Given the description of an element on the screen output the (x, y) to click on. 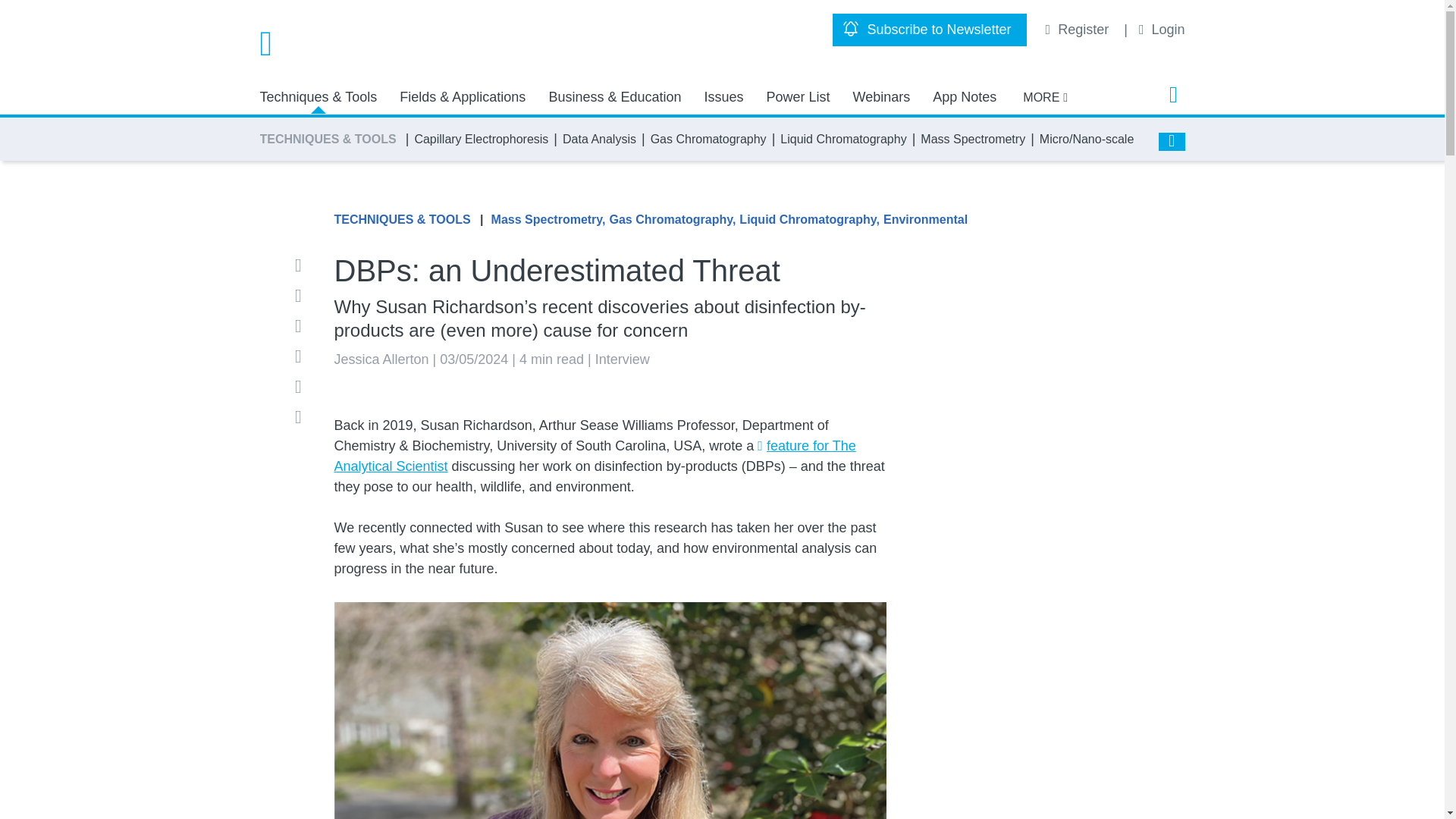
Liquid Chromatography, (809, 219)
Data Analysis (599, 138)
Share this article on Facebook (302, 295)
Power List (798, 96)
Mass Spectrometry (972, 138)
Print this article (302, 416)
Share this article on X (302, 355)
Share this article on Doximity (302, 386)
MORE (1045, 97)
Liquid Chromatography (842, 138)
